Given the description of an element on the screen output the (x, y) to click on. 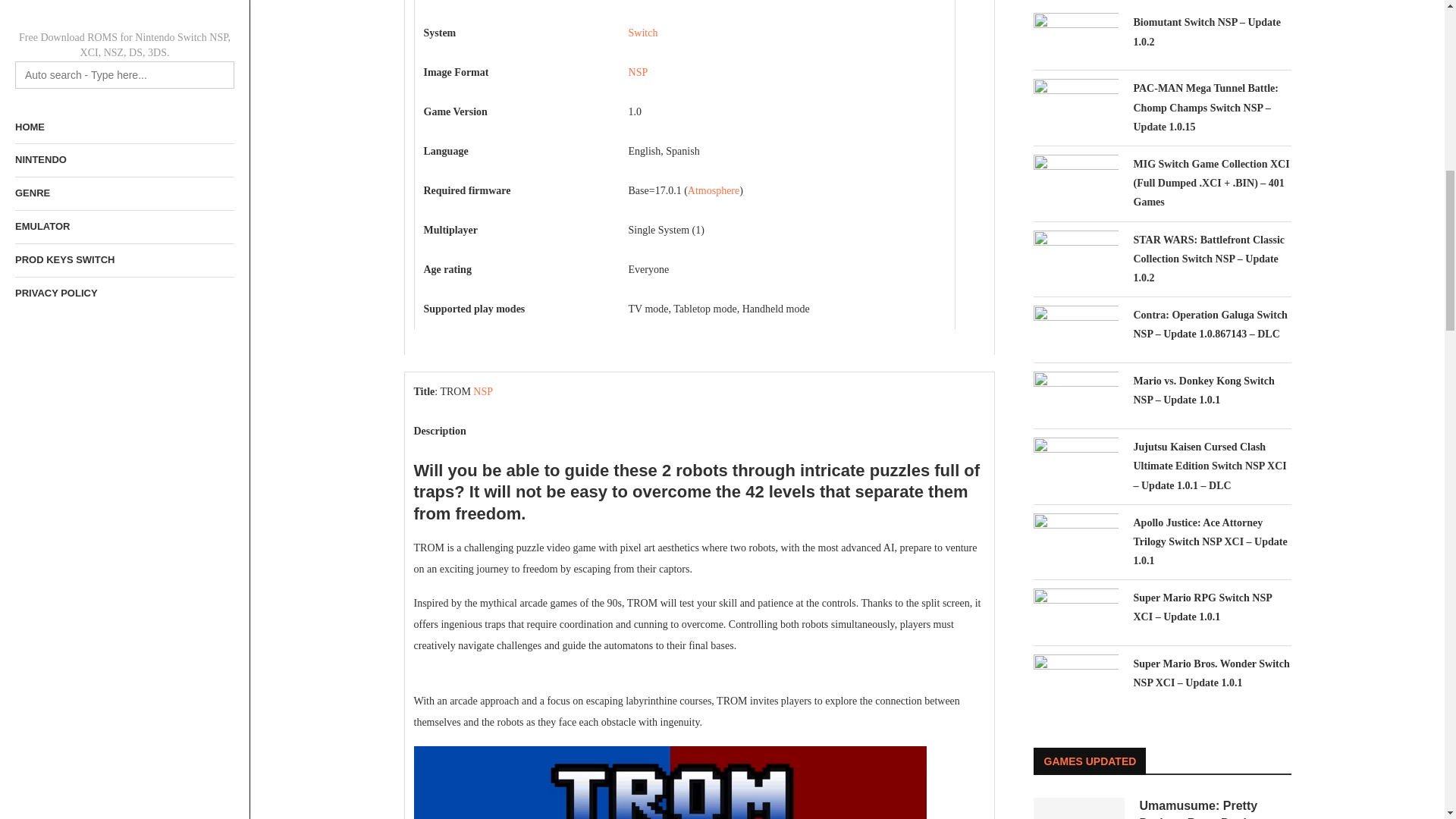
Switch (643, 32)
SWITCH (643, 32)
NSP (637, 71)
SWITCH (713, 190)
Atmosphere (713, 190)
